Given the description of an element on the screen output the (x, y) to click on. 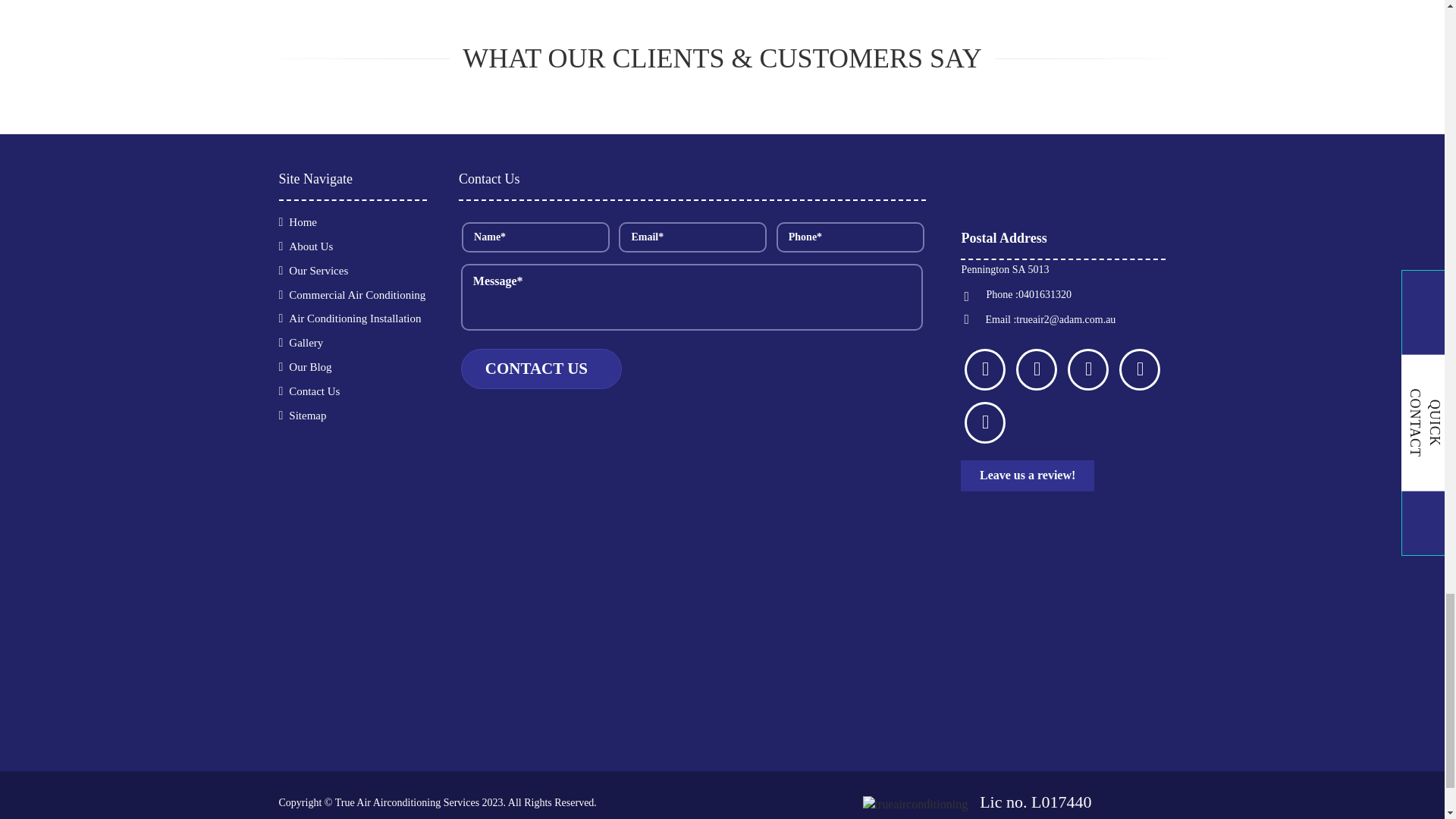
Contact Us (310, 390)
About Us (307, 246)
Contact us (541, 368)
Gallery (302, 342)
Home (299, 222)
Commercial Air Conditioning (353, 295)
Contact us (541, 368)
Our Services (314, 270)
Our Blog (306, 367)
0401631320 (1044, 294)
Sitemap (304, 415)
Air Conditioning Installation (351, 318)
